Given the description of an element on the screen output the (x, y) to click on. 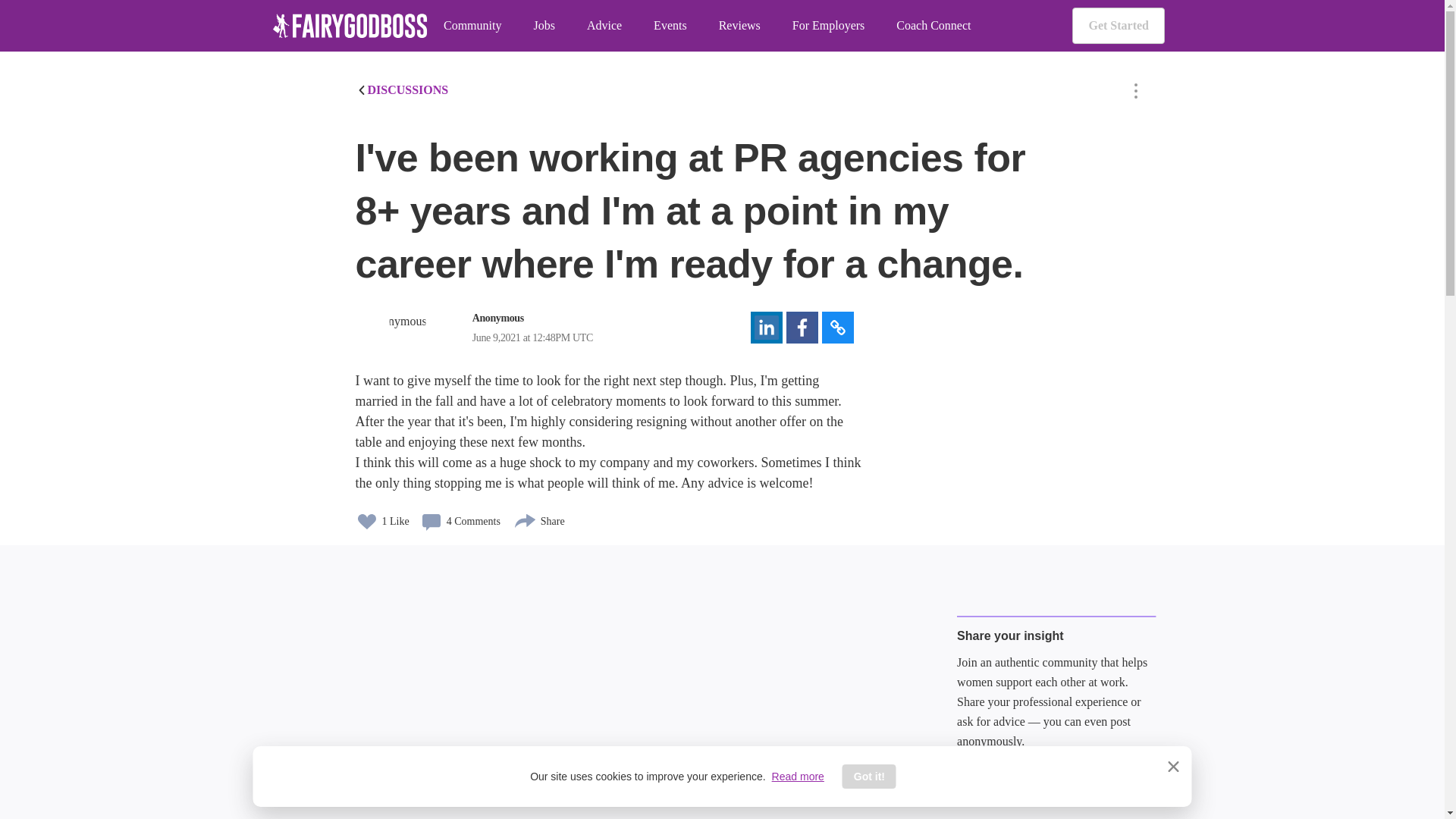
Community (472, 25)
For Employers (828, 25)
Advice (603, 25)
Coach Connect (933, 25)
Jobs (543, 25)
Reviews (739, 25)
Events (670, 25)
Community (472, 25)
Get Started (1117, 25)
Events (670, 25)
Sign up now (1011, 780)
4 Comments (460, 516)
1 Like (382, 516)
Reviews (739, 25)
DISCUSSIONS (401, 89)
